Given the description of an element on the screen output the (x, y) to click on. 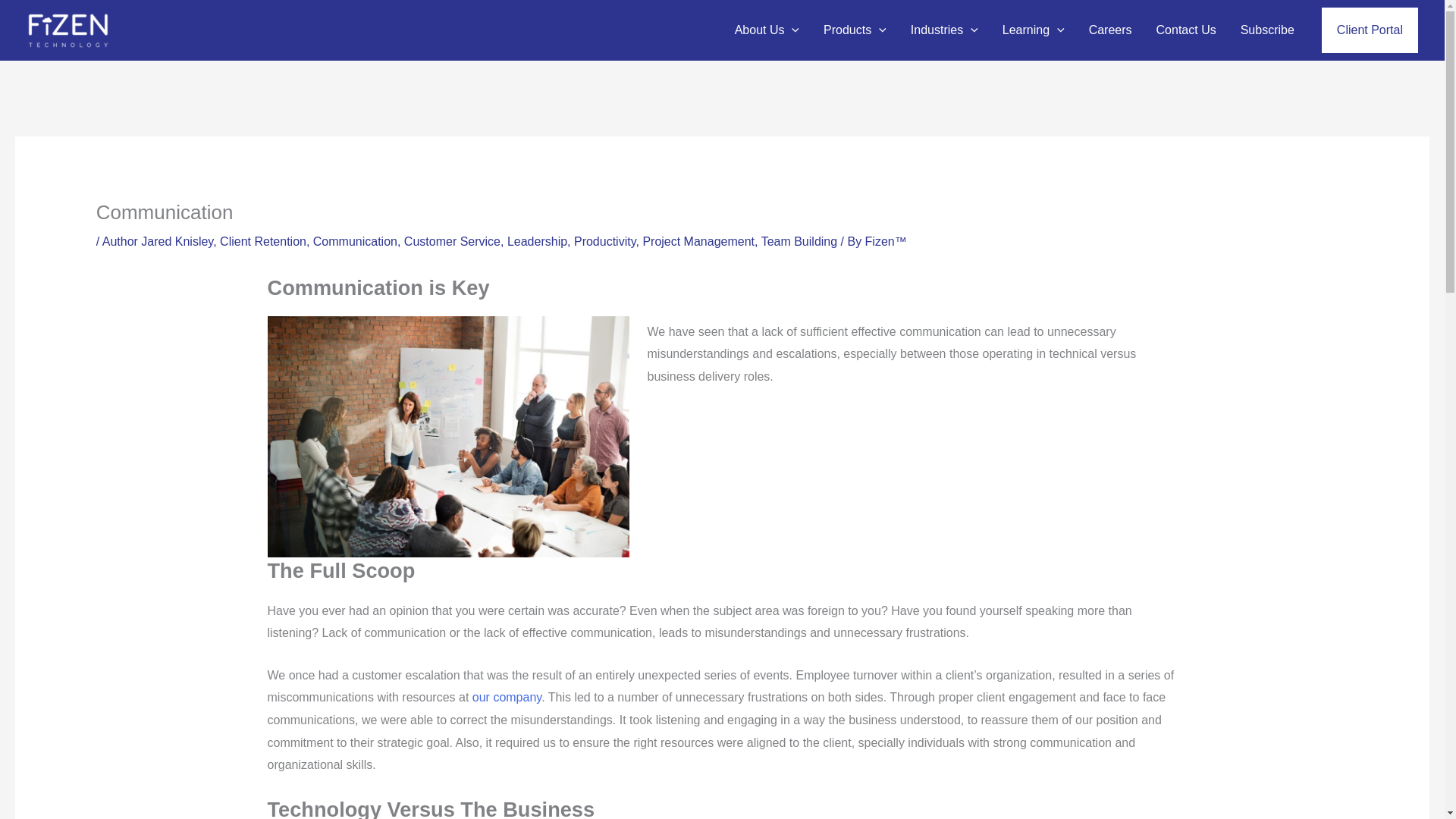
IT Service and Support for your Industry  (944, 30)
Good Communications from IT Providers (447, 436)
Products (854, 30)
Industries (944, 30)
About Us (766, 30)
